Given the description of an element on the screen output the (x, y) to click on. 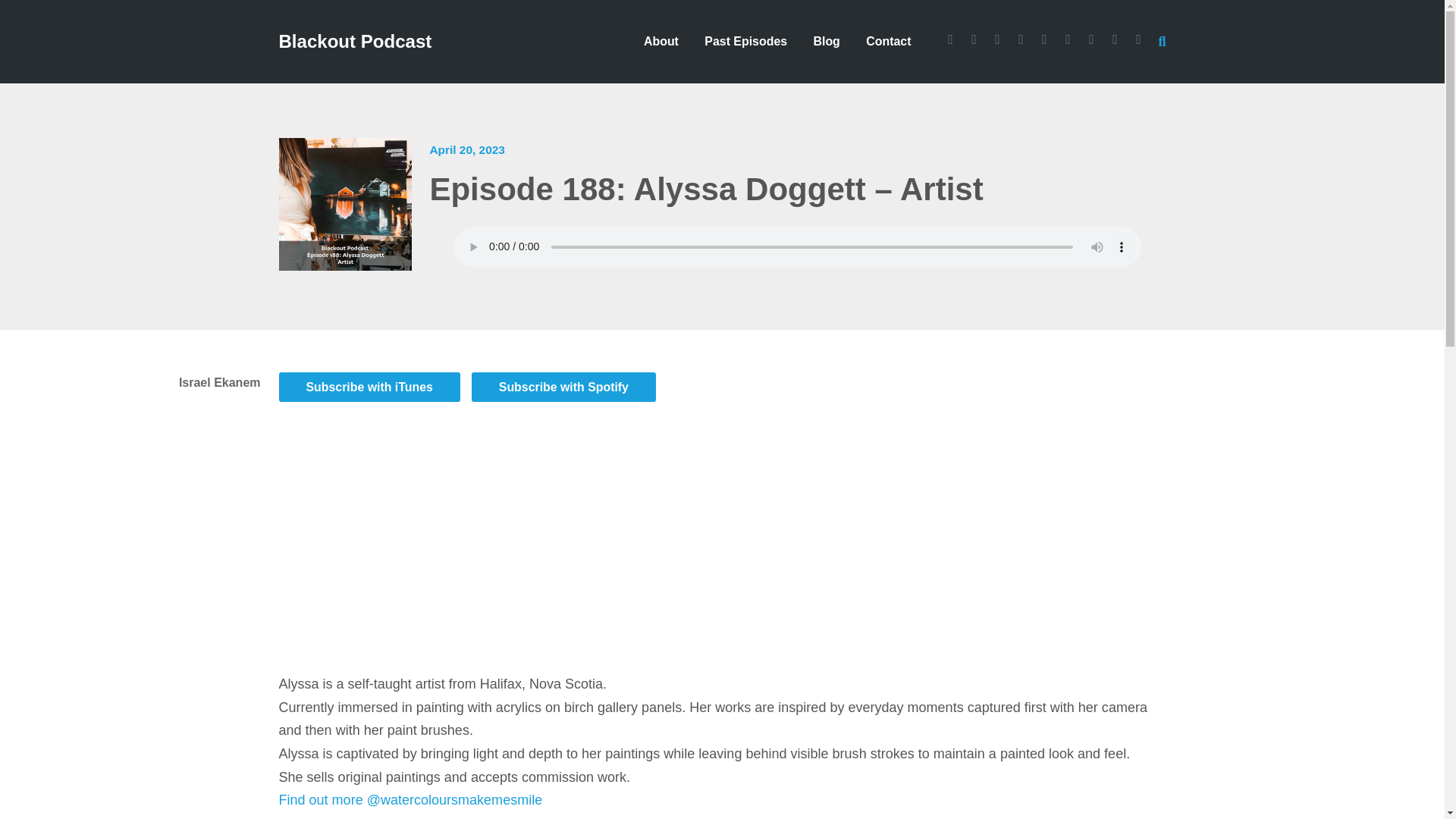
Subscribe with Spotify (563, 386)
Israel Ekanem (184, 389)
Subscribe with iTunes (369, 386)
Blackout Podcast (355, 44)
YouTube video player (491, 545)
Blackout Podcast (355, 44)
Past Episodes (745, 41)
